Given the description of an element on the screen output the (x, y) to click on. 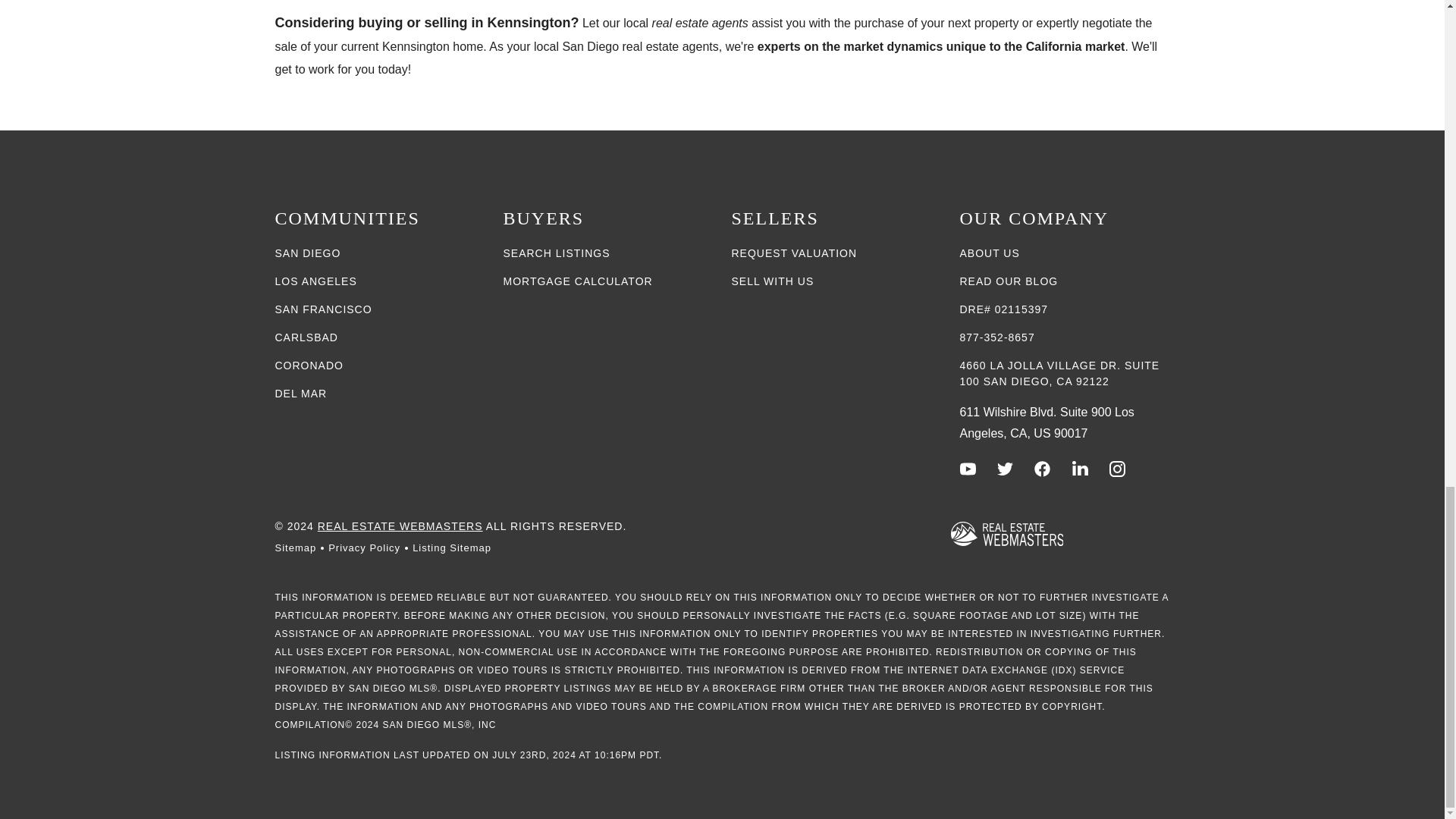
SAN DIEGO (307, 253)
LINKEDIN (1079, 468)
TWITTER (1005, 468)
YOUTUBE (967, 468)
LOS ANGELES (315, 281)
FACEBOOK (1041, 468)
